Given the description of an element on the screen output the (x, y) to click on. 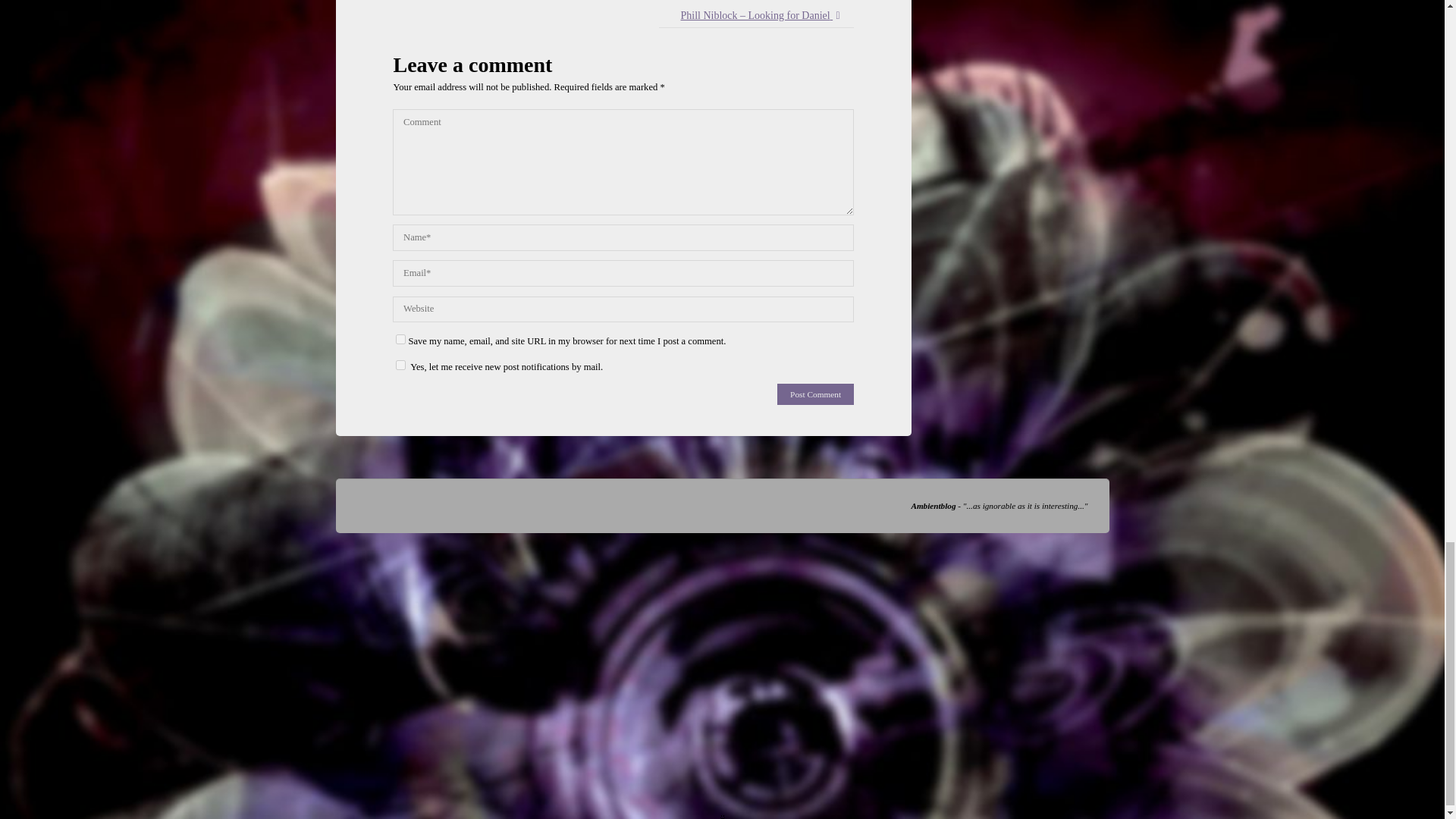
yes (401, 338)
Post Comment (815, 394)
1 (401, 365)
